Given the description of an element on the screen output the (x, y) to click on. 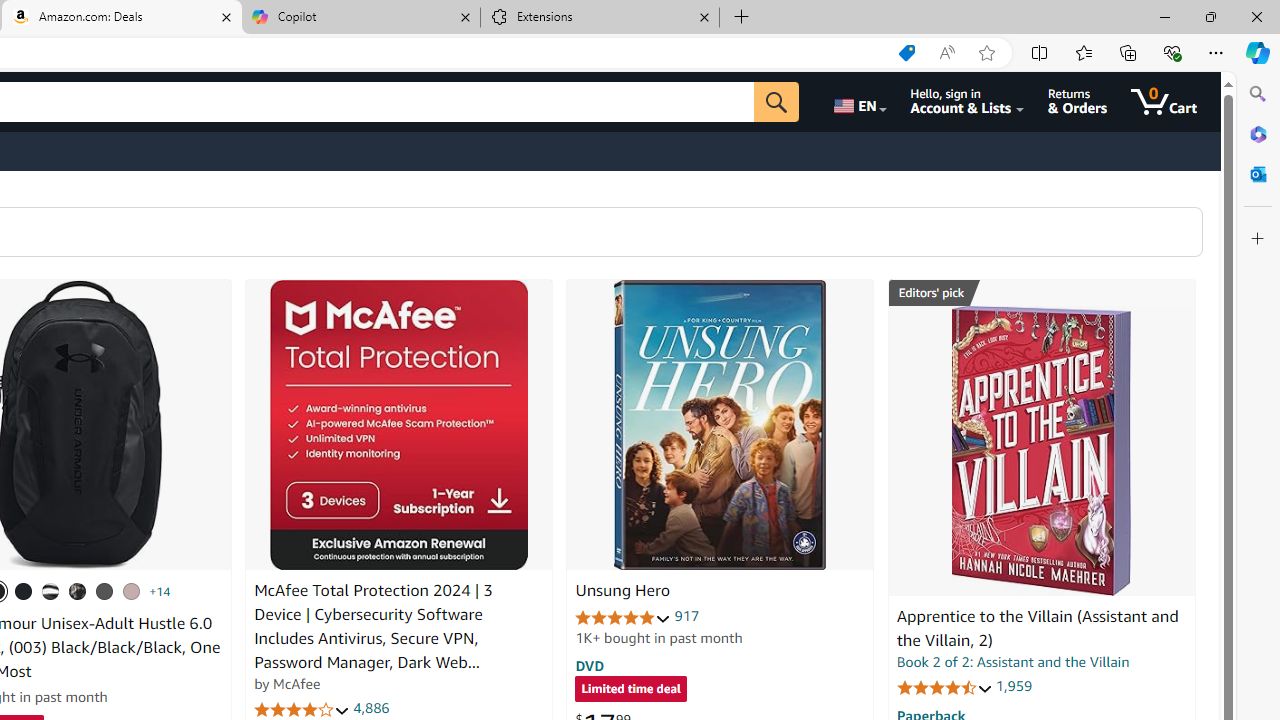
Extensions (600, 17)
0 items in cart (1163, 101)
Unsung Hero (720, 425)
Apprentice to the Villain (Assistant and the Villain, 2) (1037, 628)
(005) Black Full Heather / Black / Metallic Gold (104, 591)
(015) Tetra Gray / Tetra Gray / Gray Matter (131, 591)
DVD (589, 665)
Copilot (360, 17)
